Given the description of an element on the screen output the (x, y) to click on. 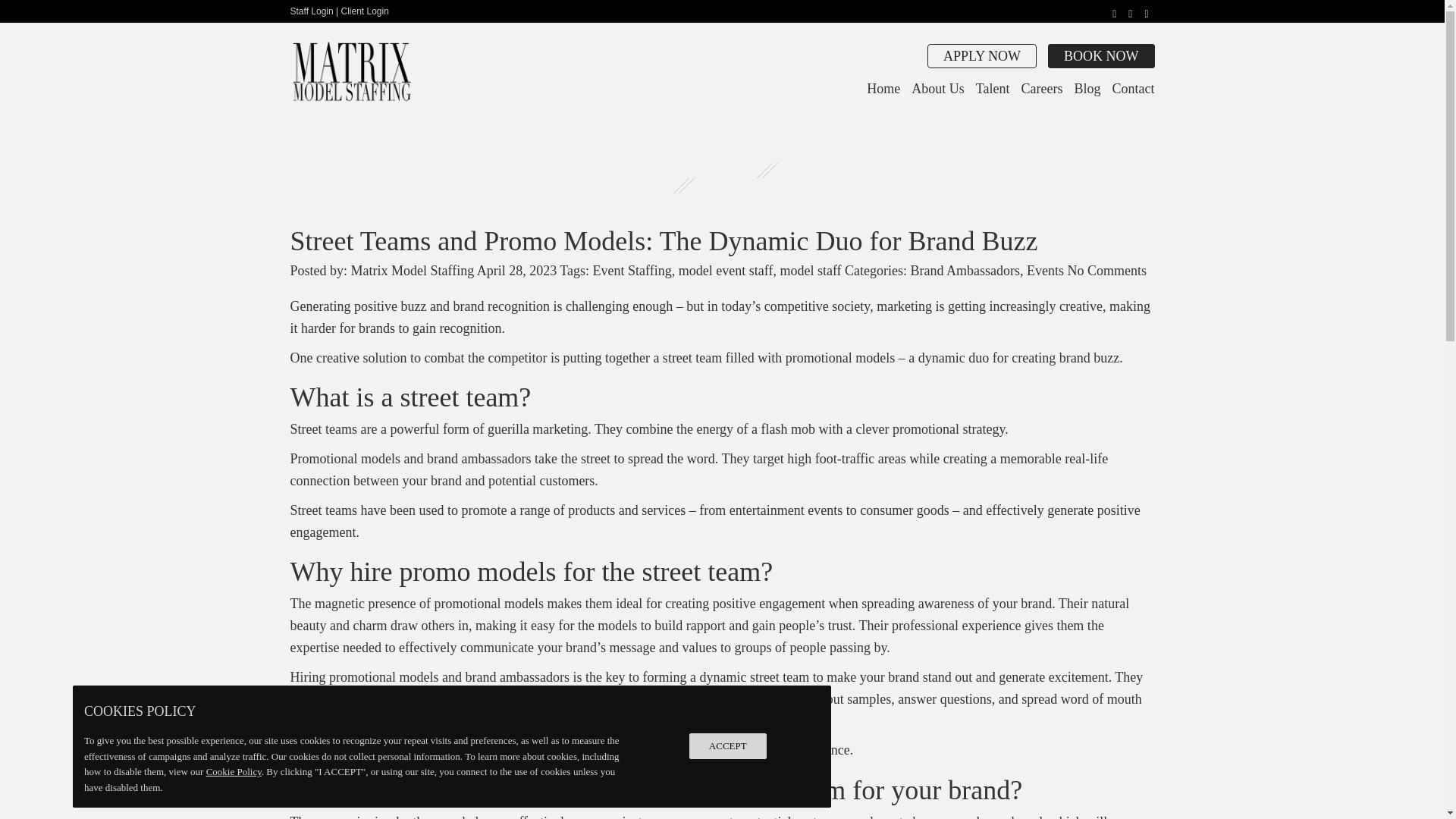
Careers (1042, 88)
About Us (937, 88)
Events (1045, 270)
BOOK NOW (1101, 55)
APPLY NOW (981, 55)
model staff (809, 270)
Blog (1087, 88)
Home (882, 88)
Talent (992, 88)
Event Staffing (631, 270)
Client Login (364, 10)
Brand Ambassadors (965, 270)
Staff Login (311, 10)
Contact (1133, 88)
